Given the description of an element on the screen output the (x, y) to click on. 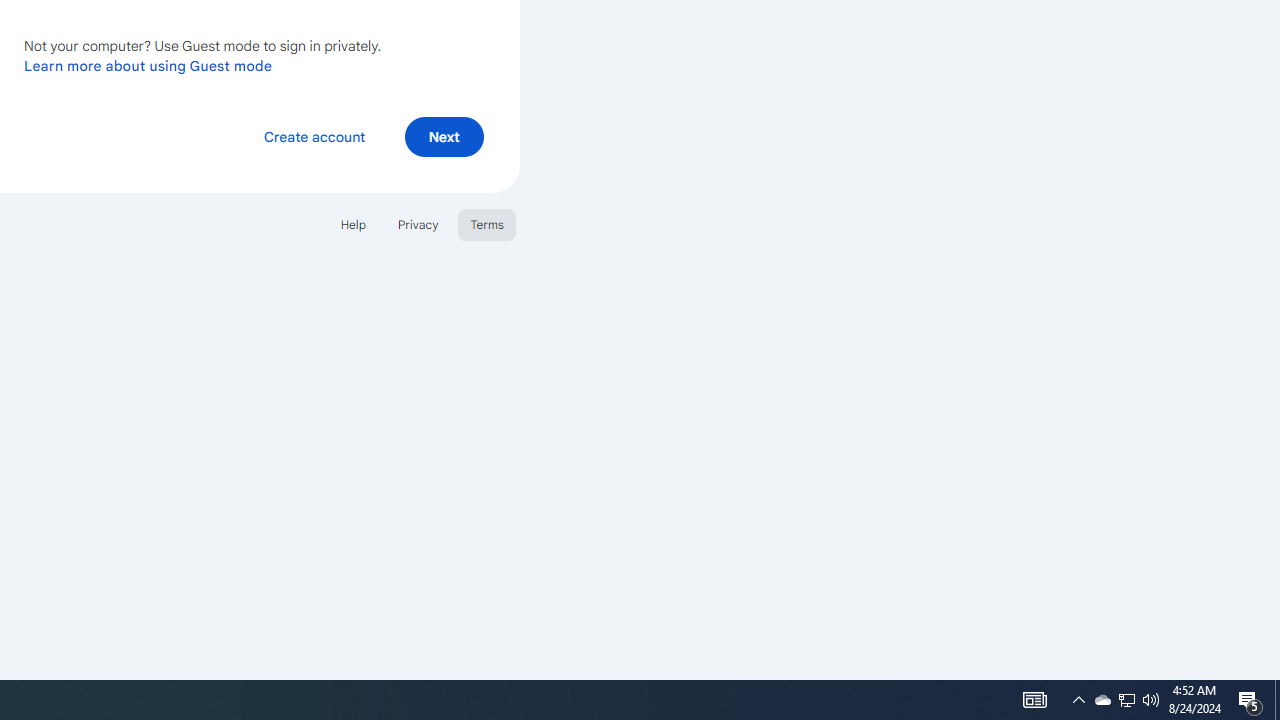
Learn more about using Guest mode (148, 65)
Create account (314, 135)
